Given the description of an element on the screen output the (x, y) to click on. 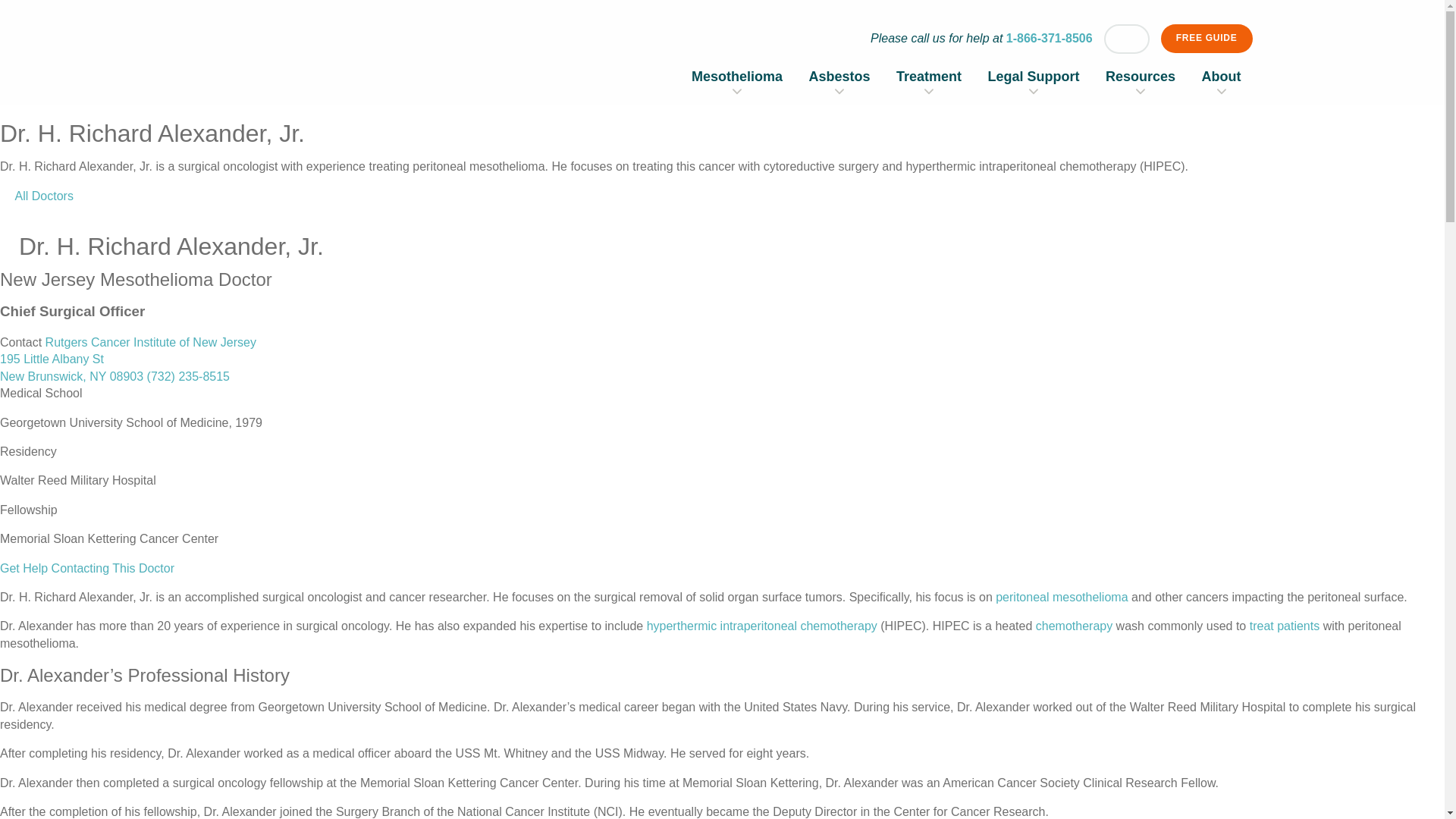
1-866-371-8506 (1049, 38)
Treatment (928, 76)
Mesothelioma (737, 76)
Resources (1139, 76)
Search this location on Google Maps (128, 359)
Home (323, 63)
Get Help Contacting Dr. H. Richard Alexander, Jr. (87, 567)
Asbestos (839, 76)
View All Doctors (37, 195)
Legal Support (1034, 76)
